Given the description of an element on the screen output the (x, y) to click on. 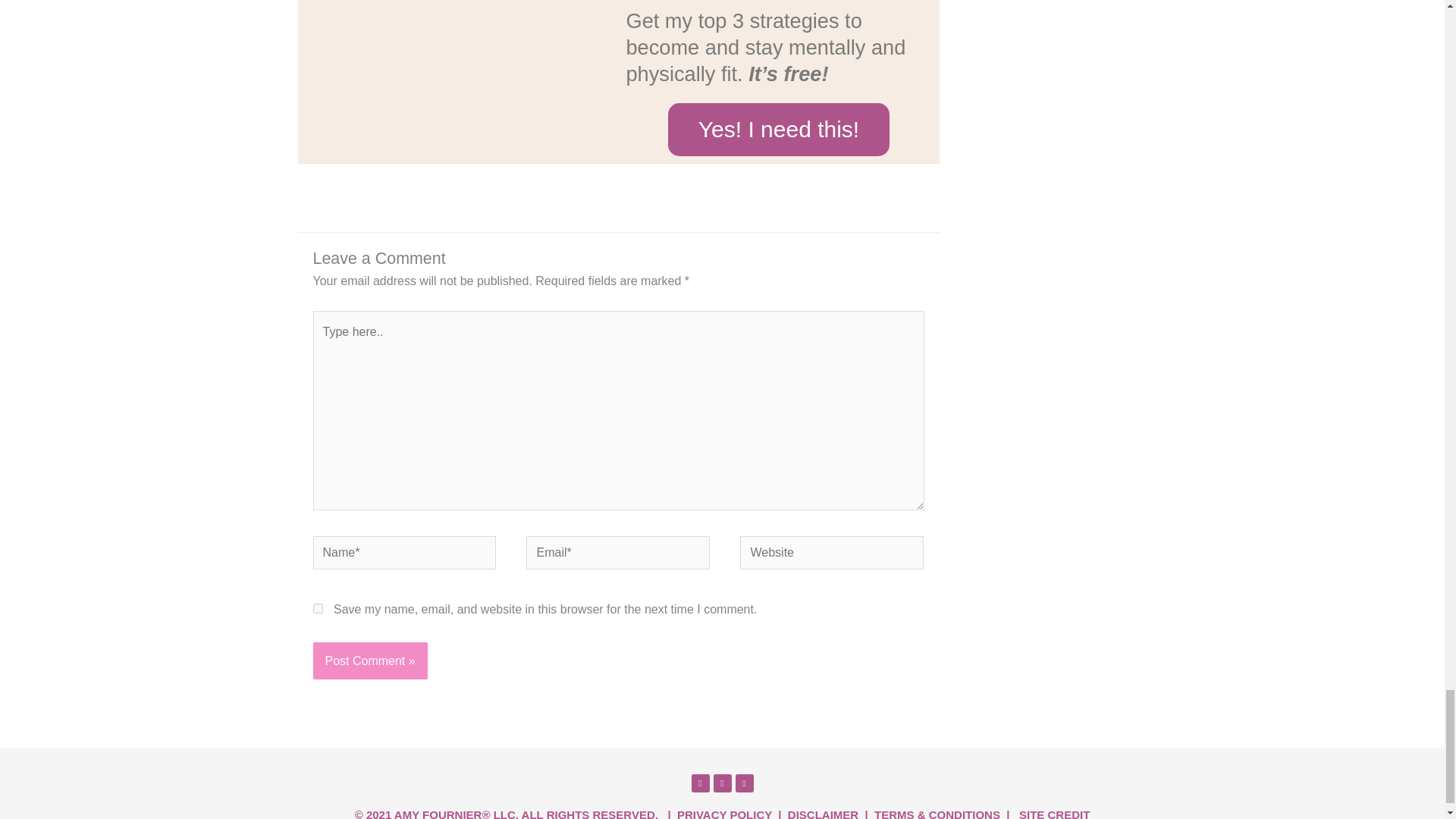
yes (317, 608)
Yes! I need this! (778, 129)
